Given the description of an element on the screen output the (x, y) to click on. 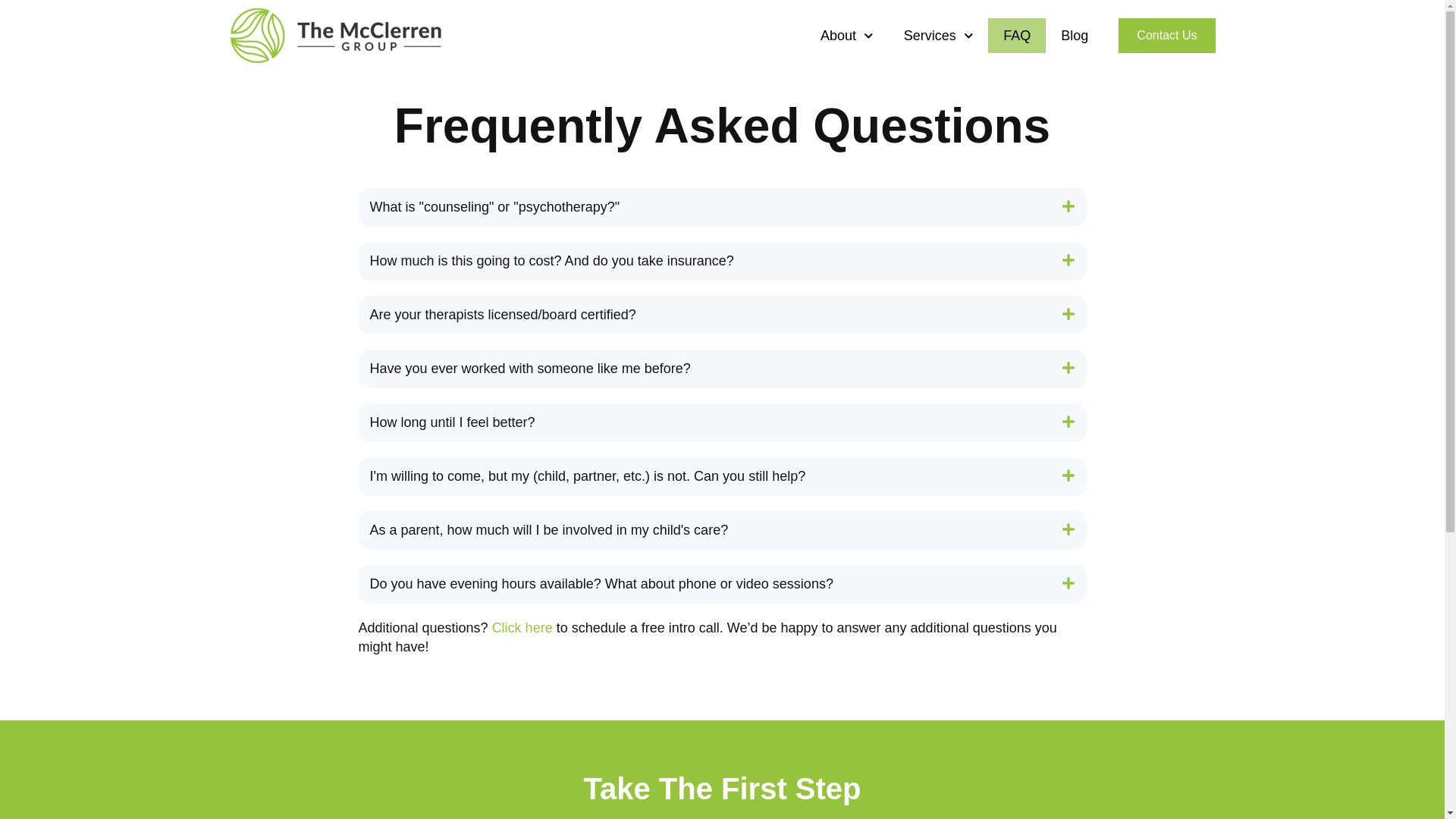
Blog (1074, 35)
FAQ (1016, 35)
Services (938, 35)
Contact Us (1166, 35)
About (846, 35)
